Given the description of an element on the screen output the (x, y) to click on. 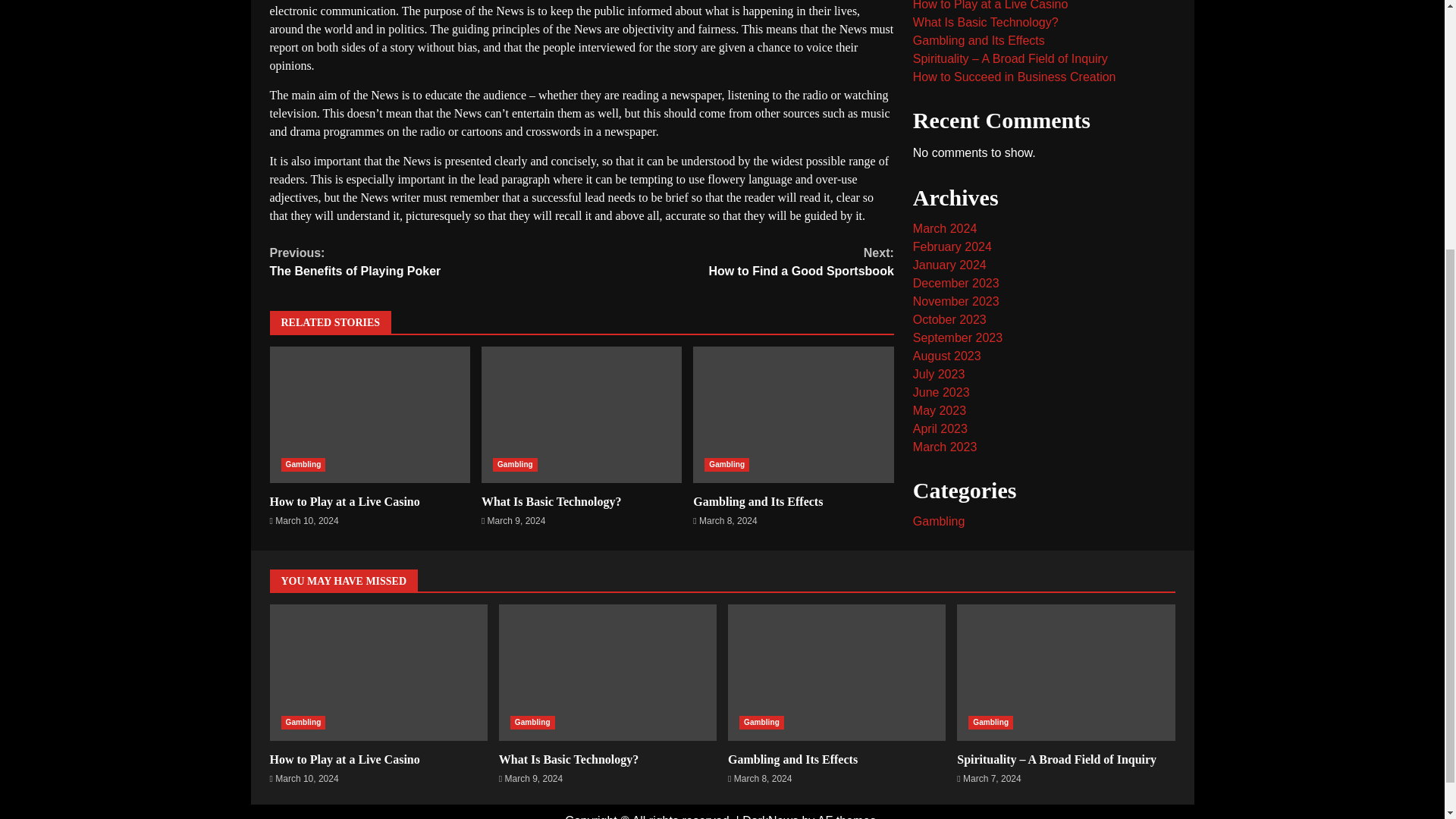
March 2024 (944, 195)
Gambling and Its Effects (793, 414)
What Is Basic Technology? (551, 501)
What Is Basic Technology? (581, 414)
December 2023 (955, 250)
October 2023 (949, 286)
July 2023 (938, 341)
Gambling and Its Effects (757, 501)
Gambling (515, 464)
February 2024 (951, 214)
June 2023 (940, 359)
Gambling (302, 464)
January 2024 (949, 232)
Gambling (726, 464)
How to Play at a Live Casino (344, 501)
